Given the description of an element on the screen output the (x, y) to click on. 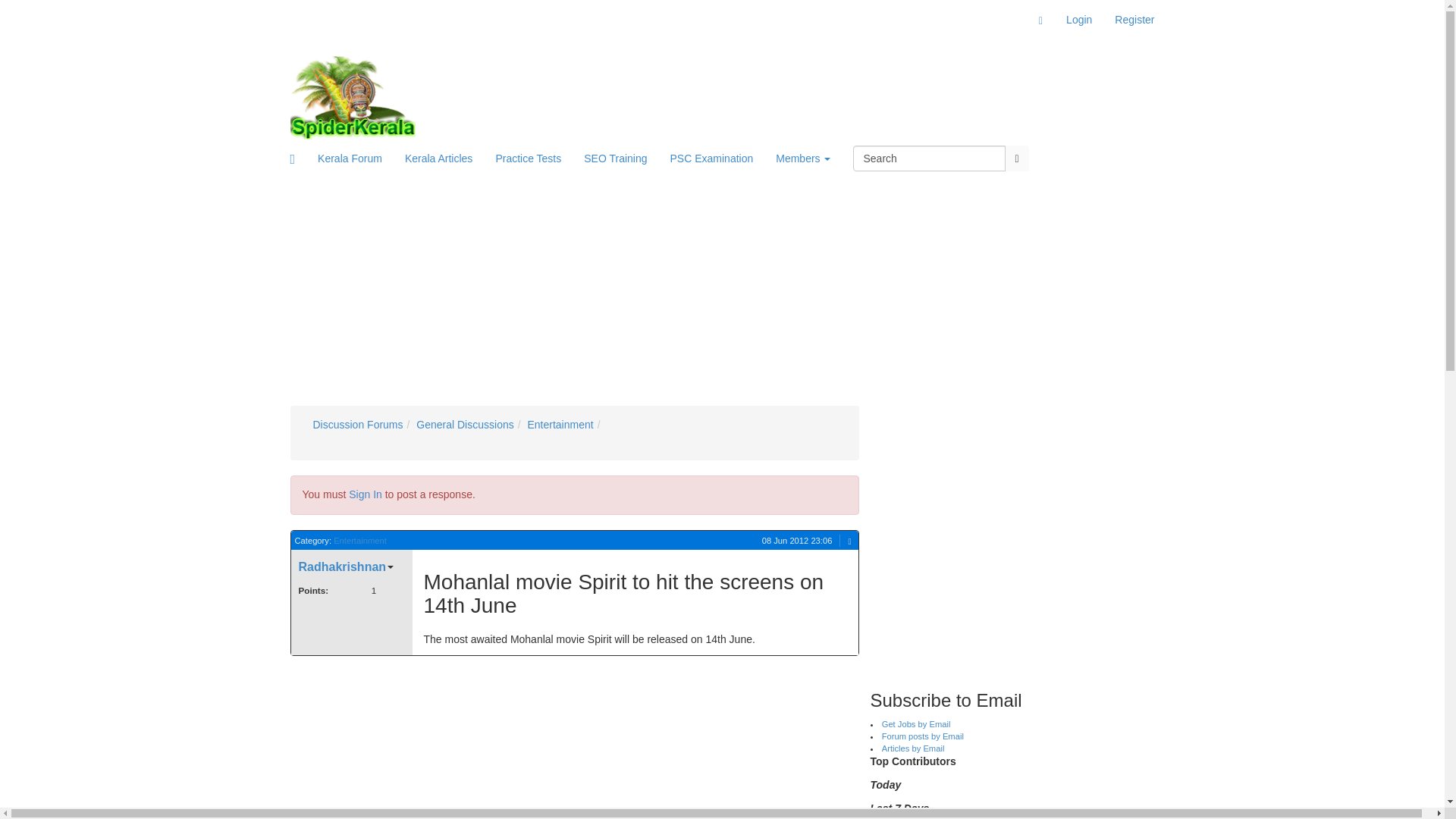
SEO Training (615, 158)
Kerala Articles (438, 158)
Kerala Forum (349, 158)
Login (1078, 19)
PSC Examination (712, 158)
General Discussions (464, 424)
Radhakrishnan (346, 567)
Register (1134, 19)
SpiderKerala.net (351, 96)
Sign In (365, 494)
Discussion Forums (358, 424)
Members (802, 158)
Search (929, 158)
Entertainment (360, 540)
Practice Tests (527, 158)
